Given the description of an element on the screen output the (x, y) to click on. 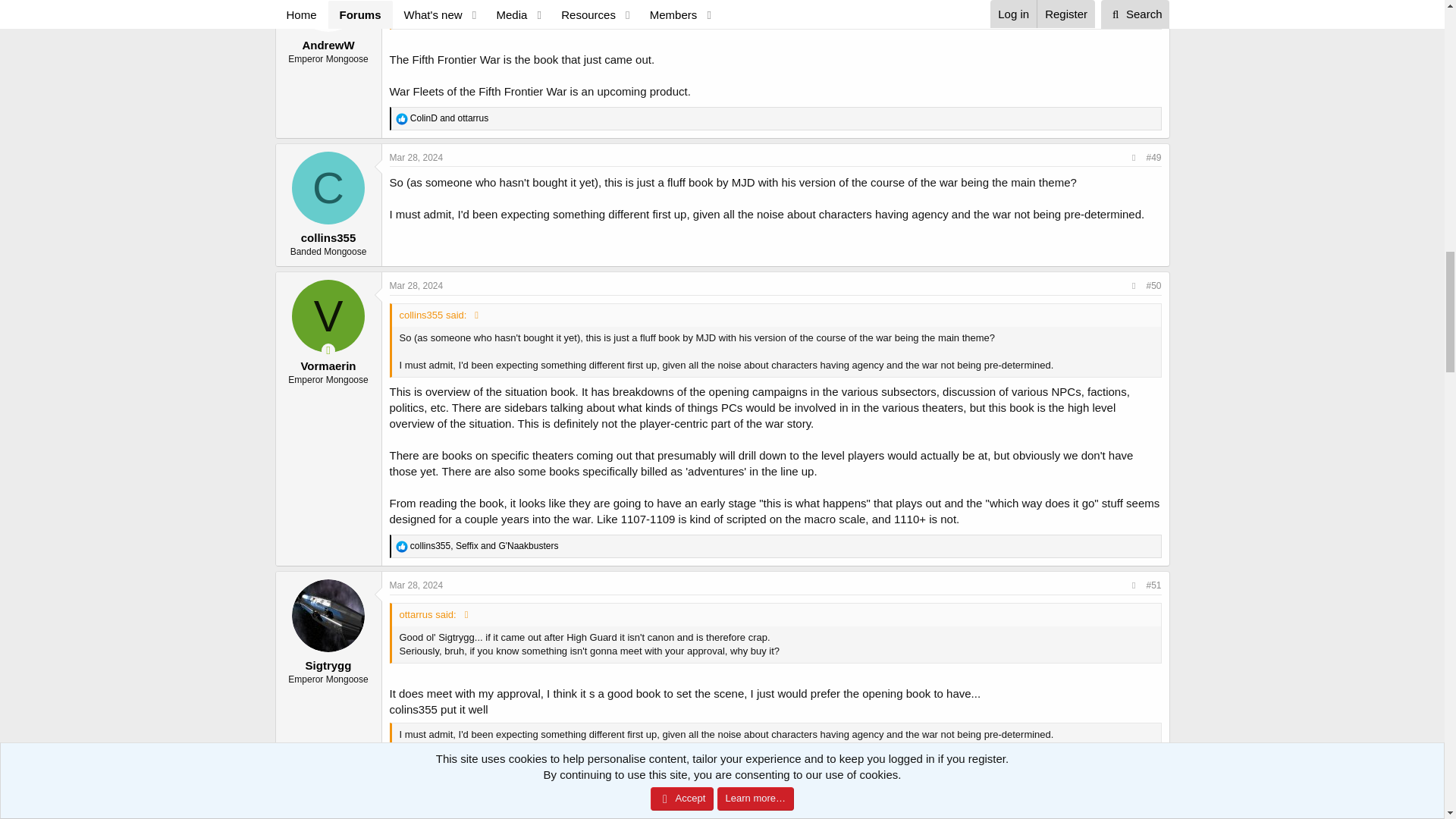
Mar 28, 2024 at 4:56 AM (417, 285)
Mar 28, 2024 at 4:34 AM (417, 157)
Like (401, 119)
